Given the description of an element on the screen output the (x, y) to click on. 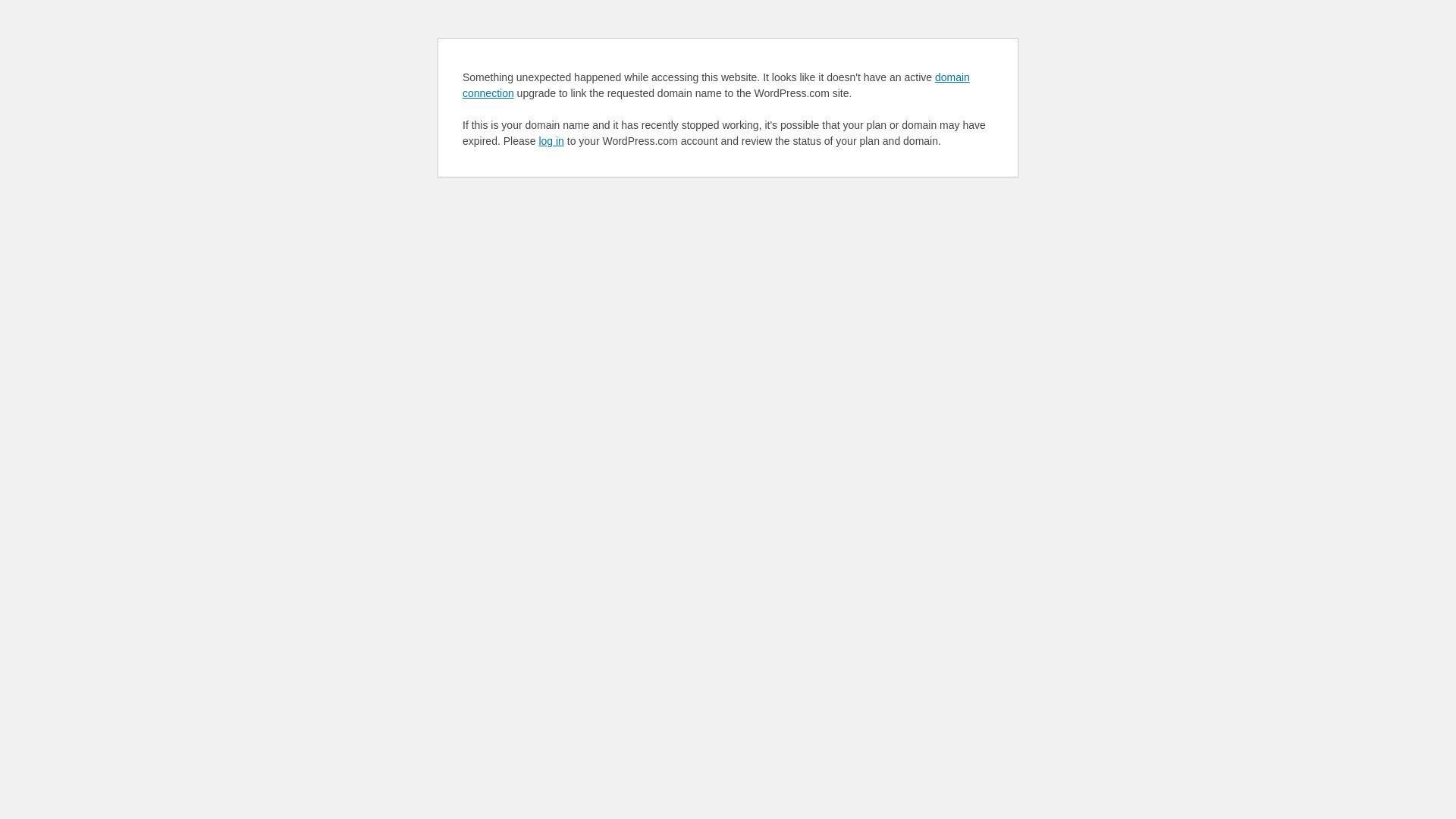
domain connection Element type: text (715, 85)
log in Element type: text (550, 140)
